Given the description of an element on the screen output the (x, y) to click on. 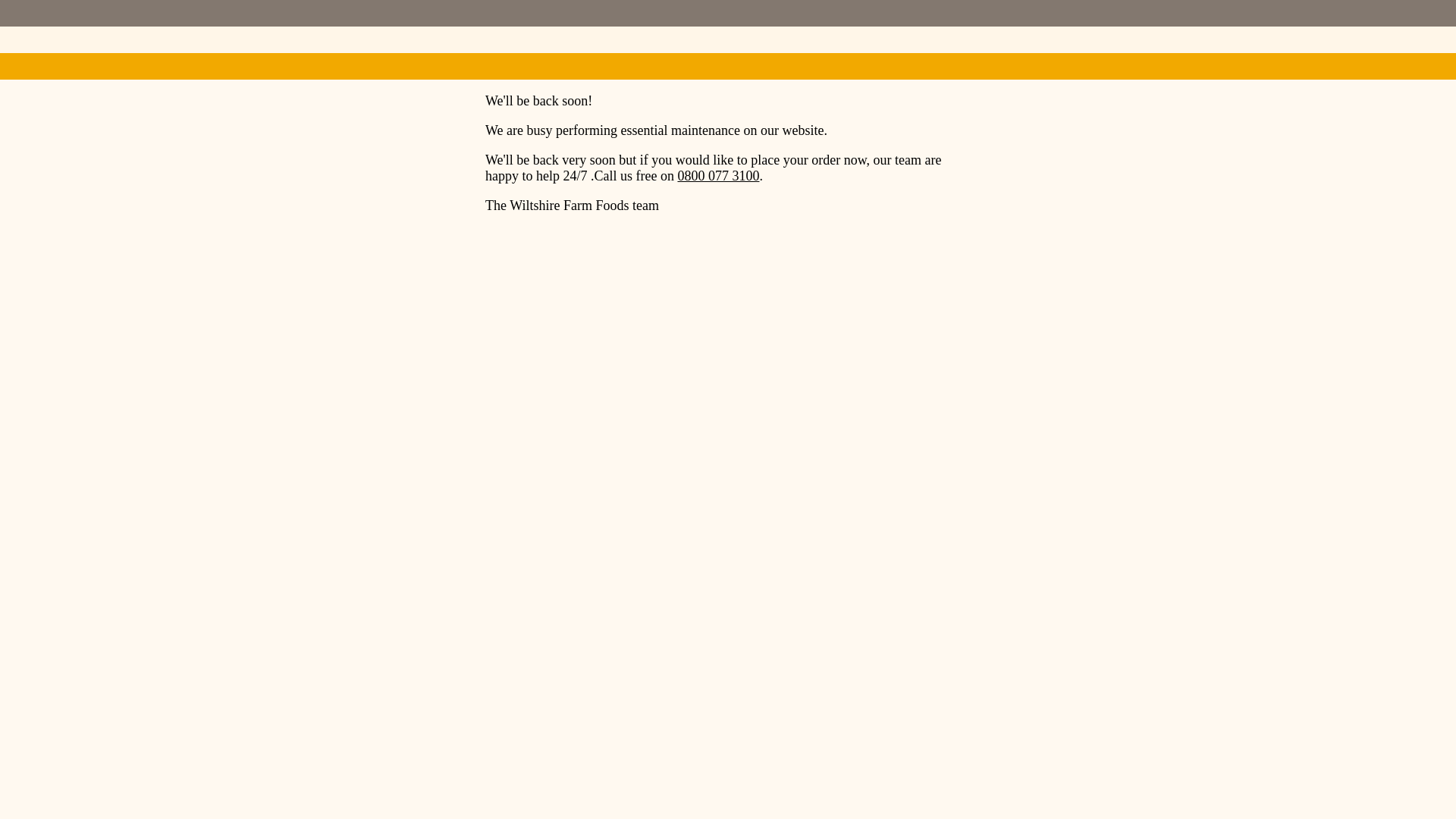
0800 077 3100 (717, 175)
